Given the description of an element on the screen output the (x, y) to click on. 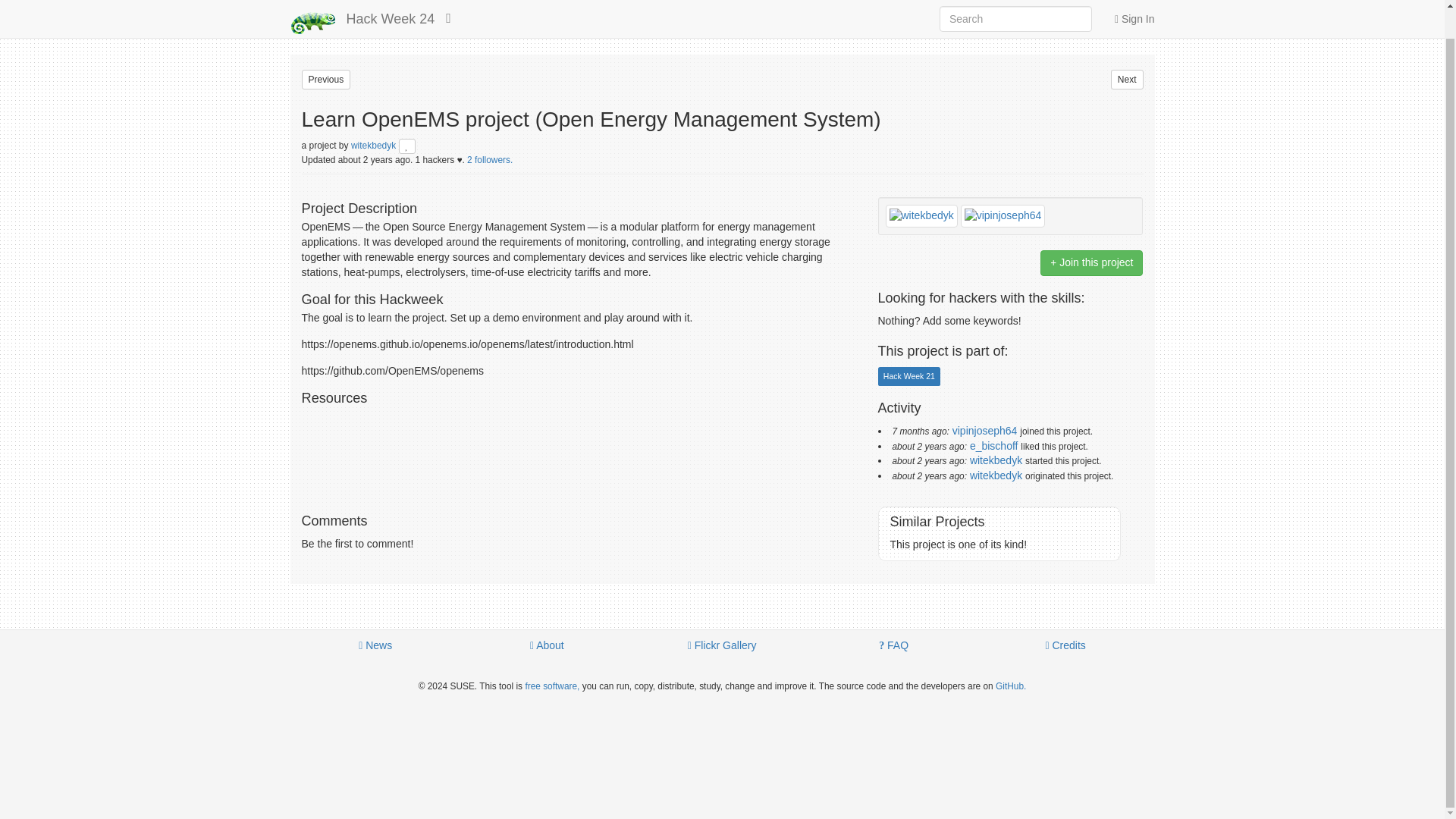
Next (1126, 79)
Try pressing 'k' on your keyboard.. (1126, 79)
witekbedyk (374, 145)
Try pressing 'j' on your keyboard.. (325, 79)
Join this project (1091, 263)
witekbedyk (995, 460)
witekbedyk (995, 475)
vipinjoseph64 (984, 430)
Home (311, 2)
Previous (325, 79)
